Given the description of an element on the screen output the (x, y) to click on. 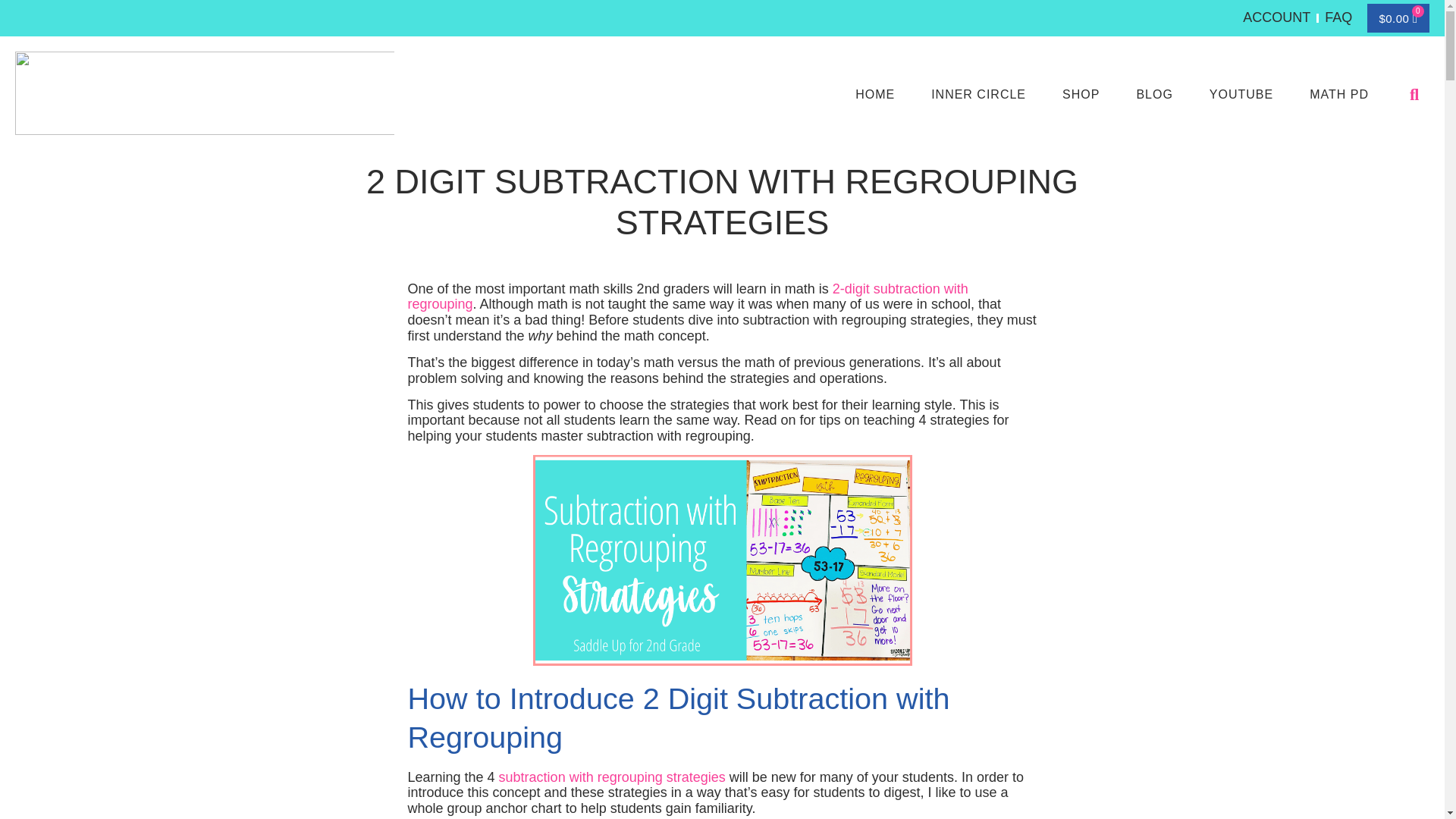
YOUTUBE (1240, 94)
subtraction with regrouping strategies (612, 776)
BLOG (1154, 94)
SHOP (1080, 94)
2-digit subtraction with regrouping (687, 296)
HOME (875, 94)
FAQ (1338, 17)
MATH PD (1339, 94)
ACCOUNT (1276, 17)
INNER CIRCLE (978, 94)
